Given the description of an element on the screen output the (x, y) to click on. 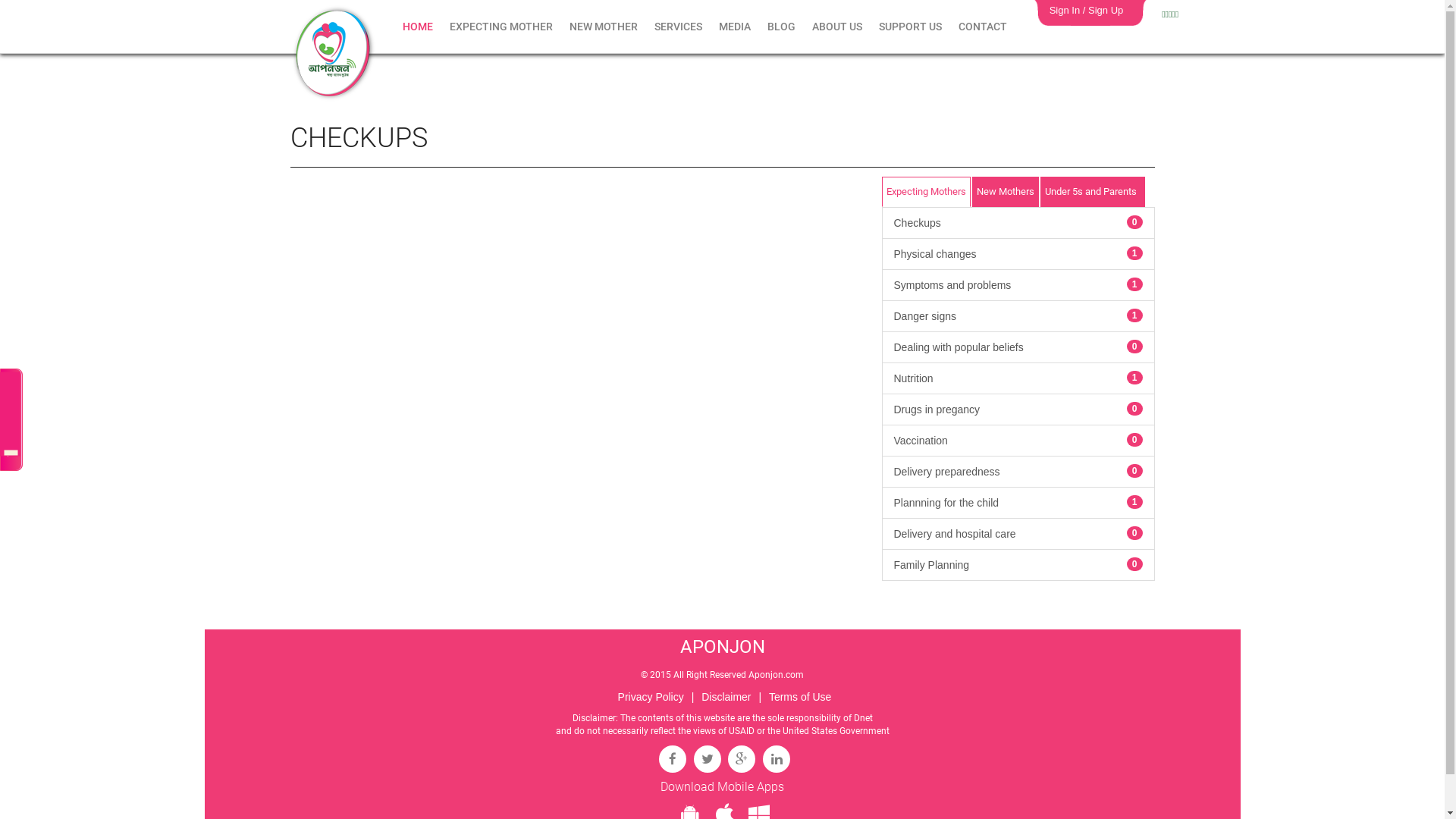
BLOG Element type: text (781, 26)
NEW MOTHER Element type: text (603, 26)
| Element type: text (692, 696)
Vaccination
0 Element type: text (1017, 440)
ABOUT US Element type: text (837, 26)
Dealing with popular beliefs
0 Element type: text (1017, 347)
Terms of Use Element type: text (799, 696)
Get Registered Element type: text (11, 419)
MEDIA Element type: text (734, 26)
| Element type: text (759, 696)
Drugs in pregancy
0 Element type: text (1017, 409)
EXPECTING MOTHER Element type: text (500, 26)
Checkups
0 Element type: text (1017, 222)
SERVICES Element type: text (678, 26)
HOME Element type: text (417, 26)
CONTACT Element type: text (982, 26)
Symptoms and problems
1 Element type: text (1017, 285)
SUPPORT US Element type: text (909, 26)
Delivery and hospital care
0 Element type: text (1017, 533)
Delivery preparedness
0 Element type: text (1017, 471)
Disclaimer Element type: text (725, 696)
Under 5s and Parents Element type: text (1092, 191)
Expecting Mothers Element type: text (925, 191)
Danger signs
1 Element type: text (1017, 316)
New Mothers Element type: text (1005, 191)
Physical changes
1 Element type: text (1017, 253)
Nutrition
1 Element type: text (1017, 378)
Privacy Policy Element type: text (651, 696)
Plannning for the child
1 Element type: text (1017, 502)
Family Planning
0 Element type: text (1017, 564)
